Given the description of an element on the screen output the (x, y) to click on. 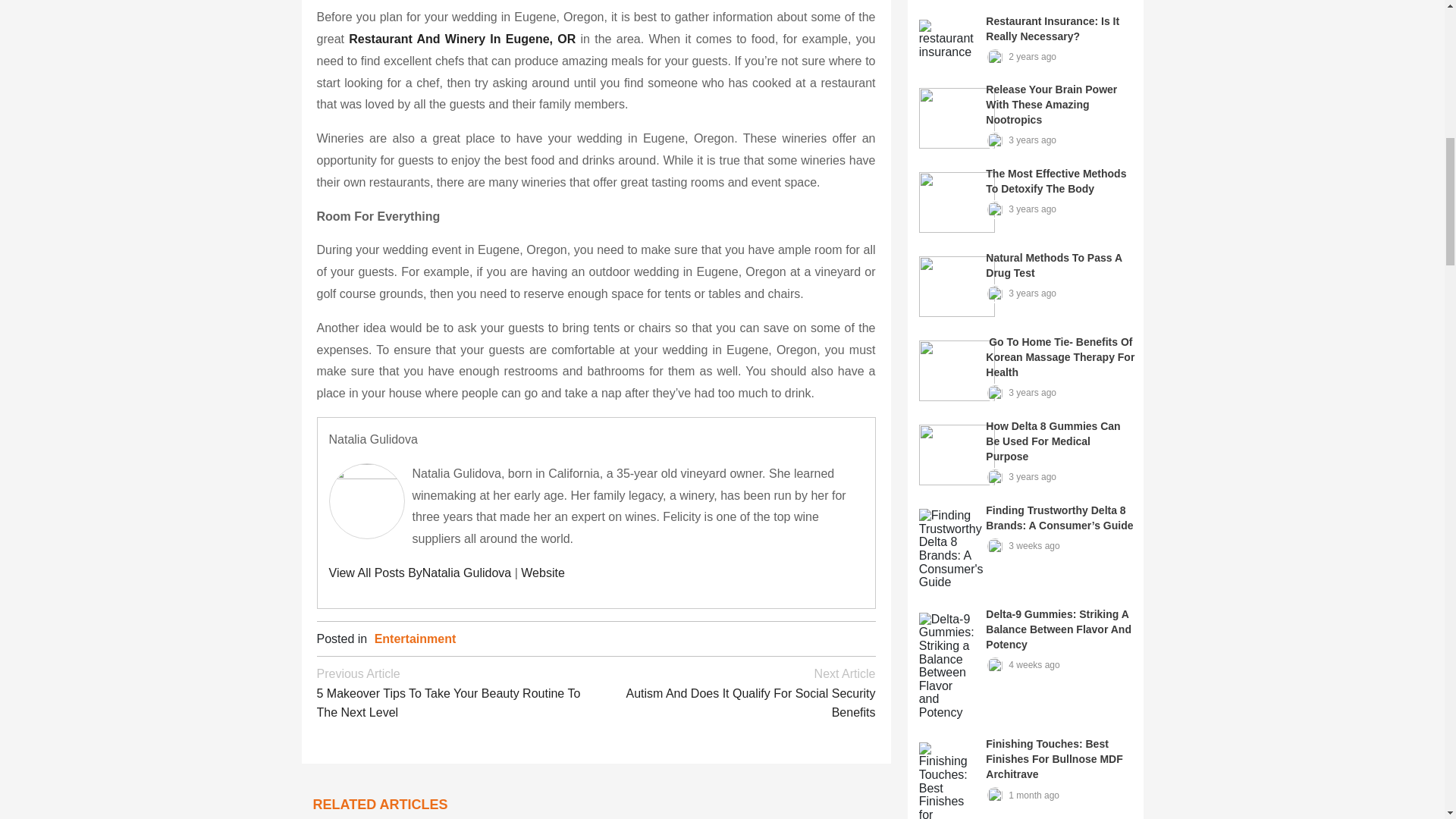
Website (542, 572)
Entertainment (415, 638)
View All Posts ByNatalia Gulidova (420, 572)
Restaurant And Winery In Eugene, OR (462, 38)
